Given the description of an element on the screen output the (x, y) to click on. 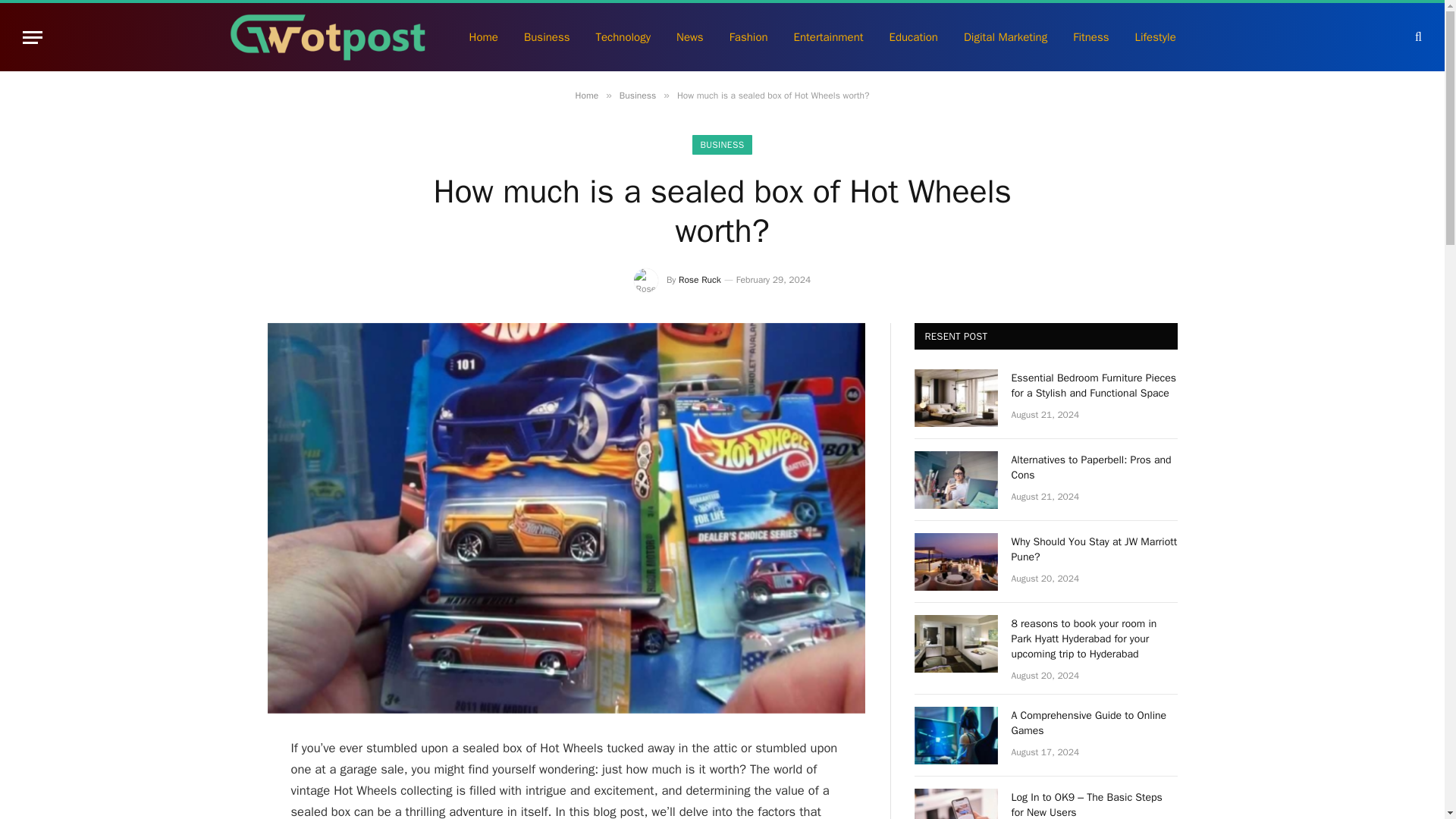
Fashion (748, 37)
Lifestyle (1155, 37)
Education (913, 37)
Technology (622, 37)
Rose Ruck (699, 279)
Fitness (1090, 37)
Home (586, 95)
Business (638, 95)
Digital Marketing (1004, 37)
